Given the description of an element on the screen output the (x, y) to click on. 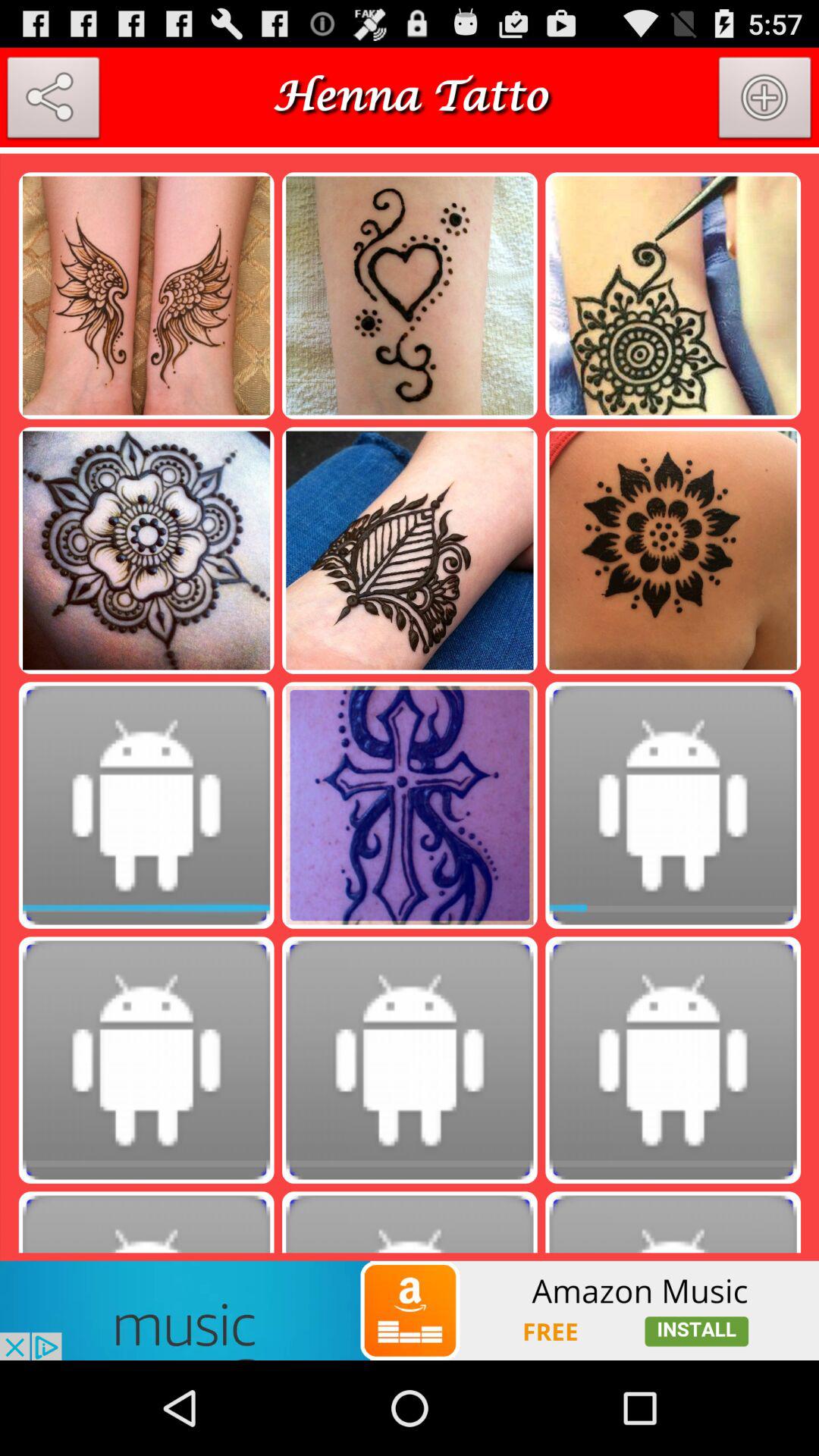
share (53, 100)
